Given the description of an element on the screen output the (x, y) to click on. 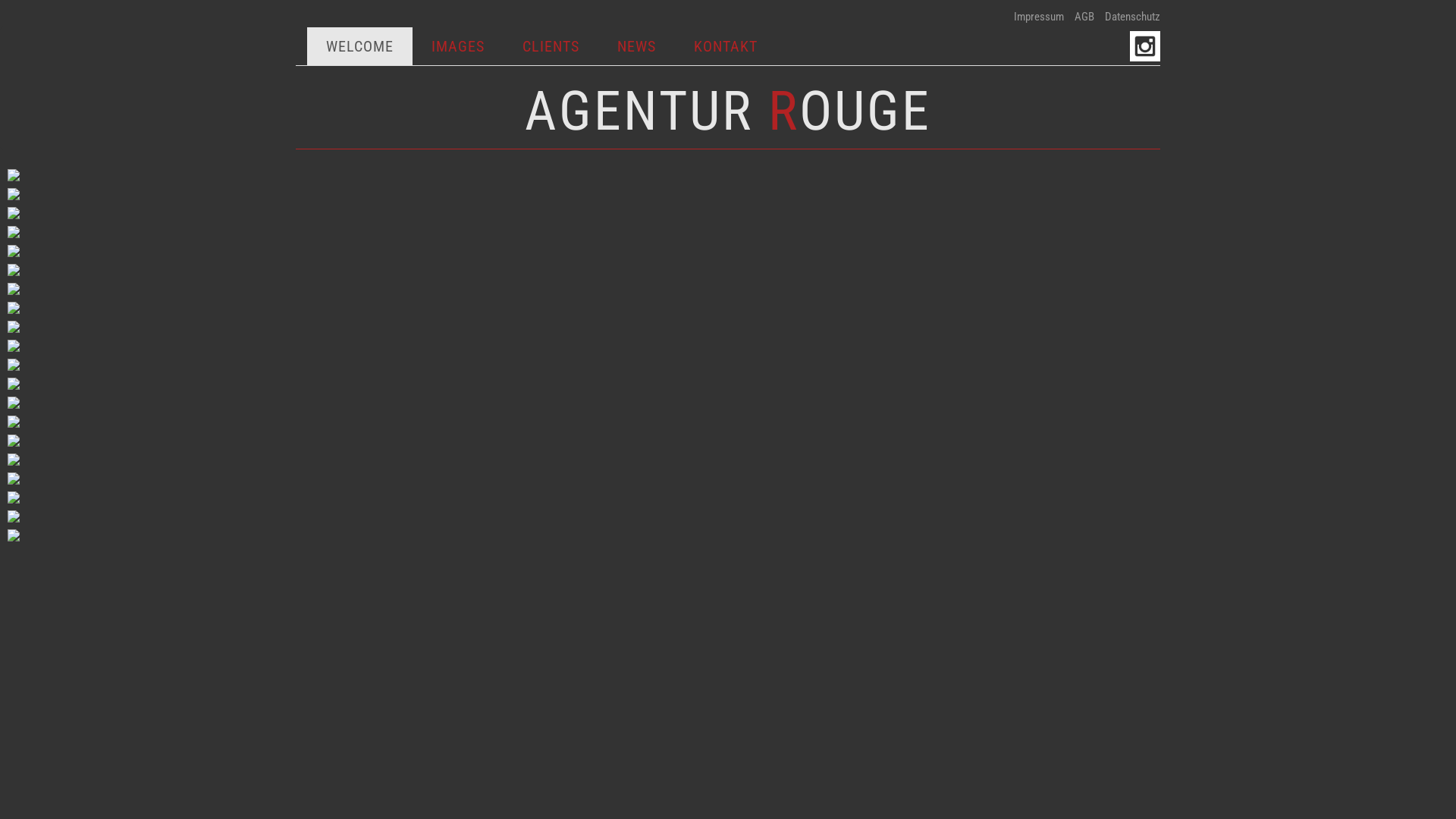
Datenschutz Element type: text (1132, 16)
AGB Element type: text (1084, 16)
NEWS Element type: text (636, 46)
KONTAKT Element type: text (725, 46)
IMAGES Element type: text (457, 46)
AGENTUR ROUGE Element type: text (727, 111)
CLIENTS Element type: text (550, 46)
WELCOME Element type: text (359, 46)
Impressum Element type: text (1038, 16)
